Given the description of an element on the screen output the (x, y) to click on. 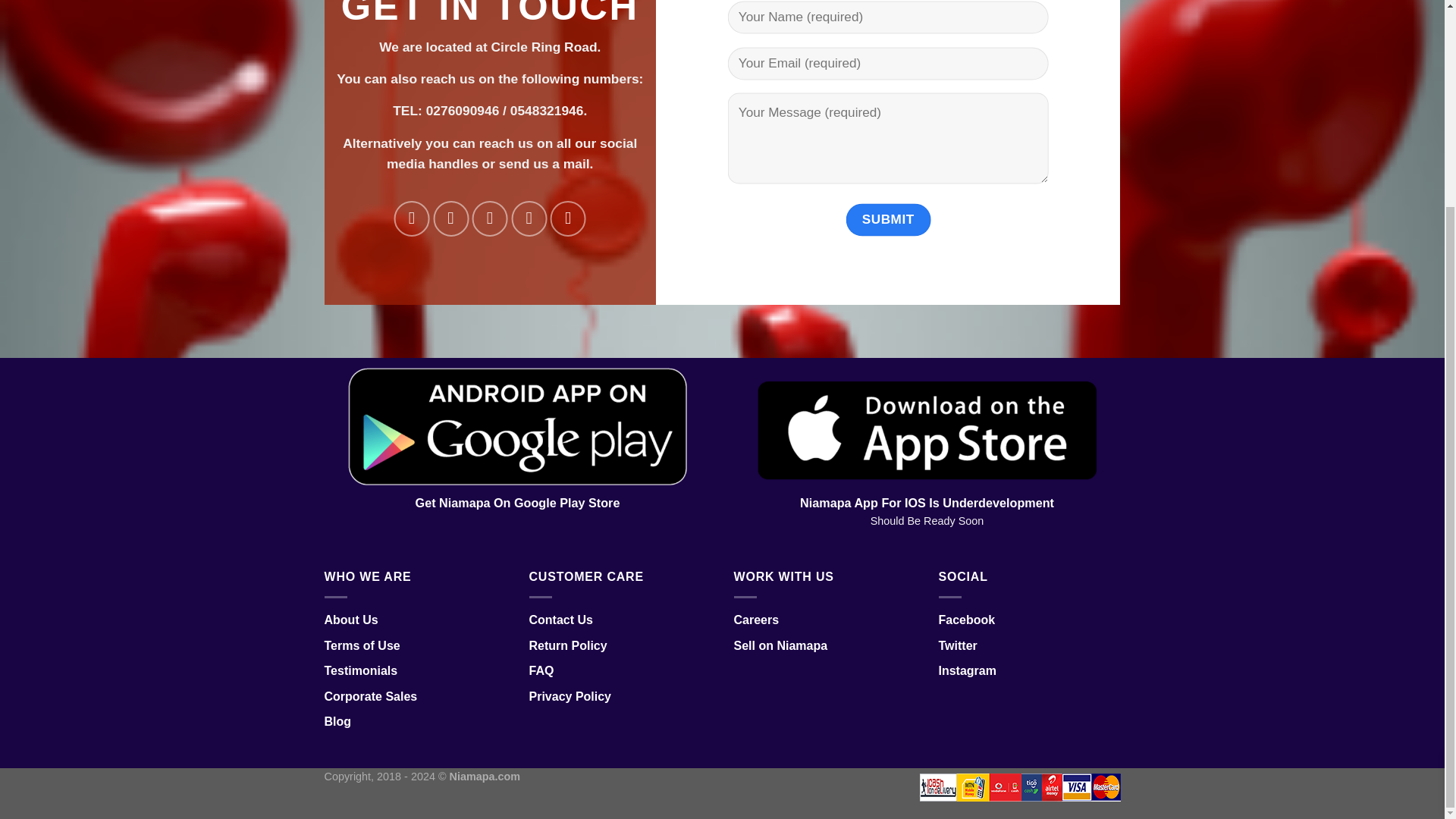
Send us an email (529, 218)
Follow on LinkedIn (568, 218)
Follow on Facebook (411, 218)
Follow on Twitter (489, 218)
Submit (887, 219)
Follow on Instagram (450, 218)
